Given the description of an element on the screen output the (x, y) to click on. 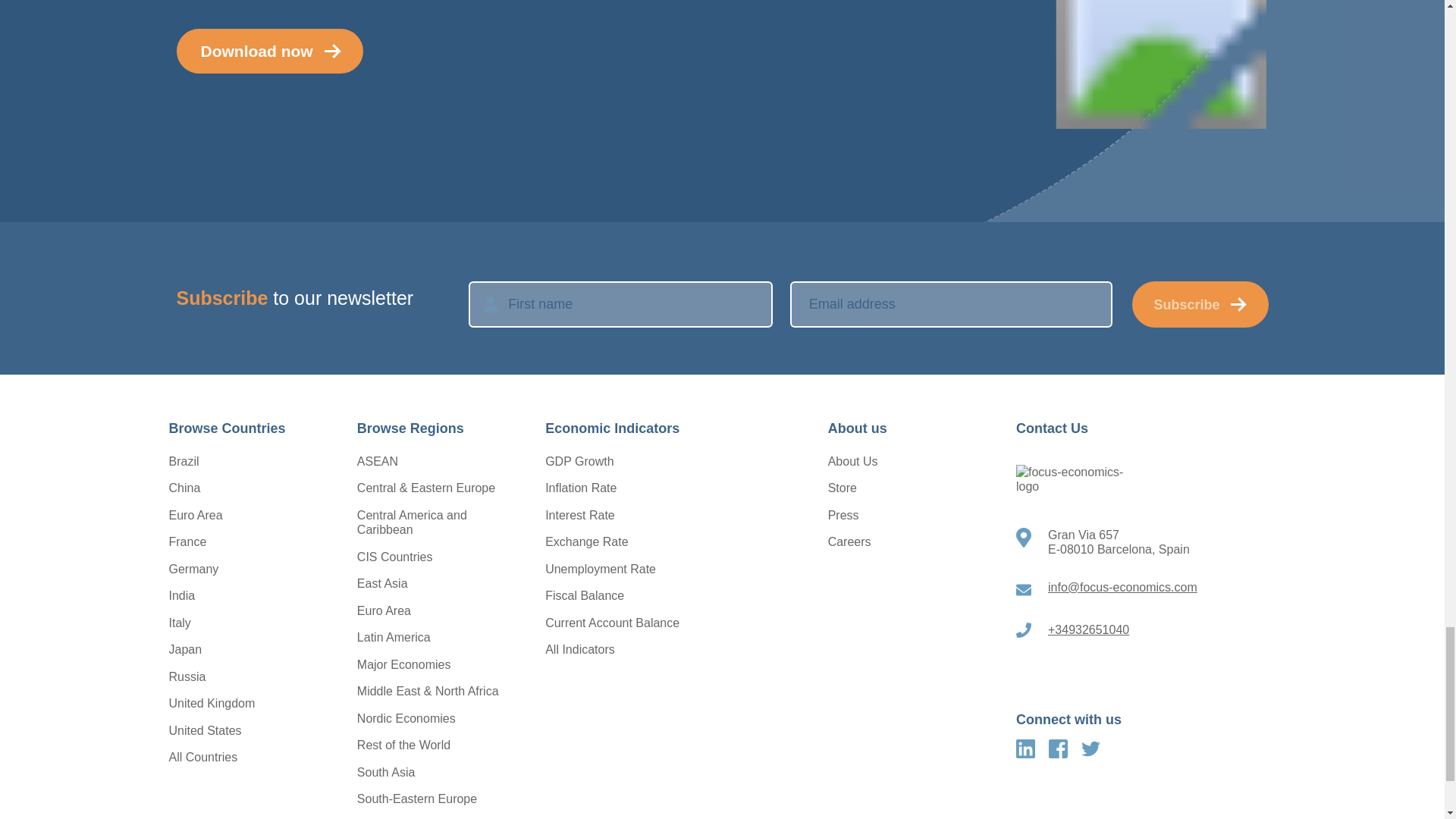
Subscribe (1200, 303)
